Given the description of an element on the screen output the (x, y) to click on. 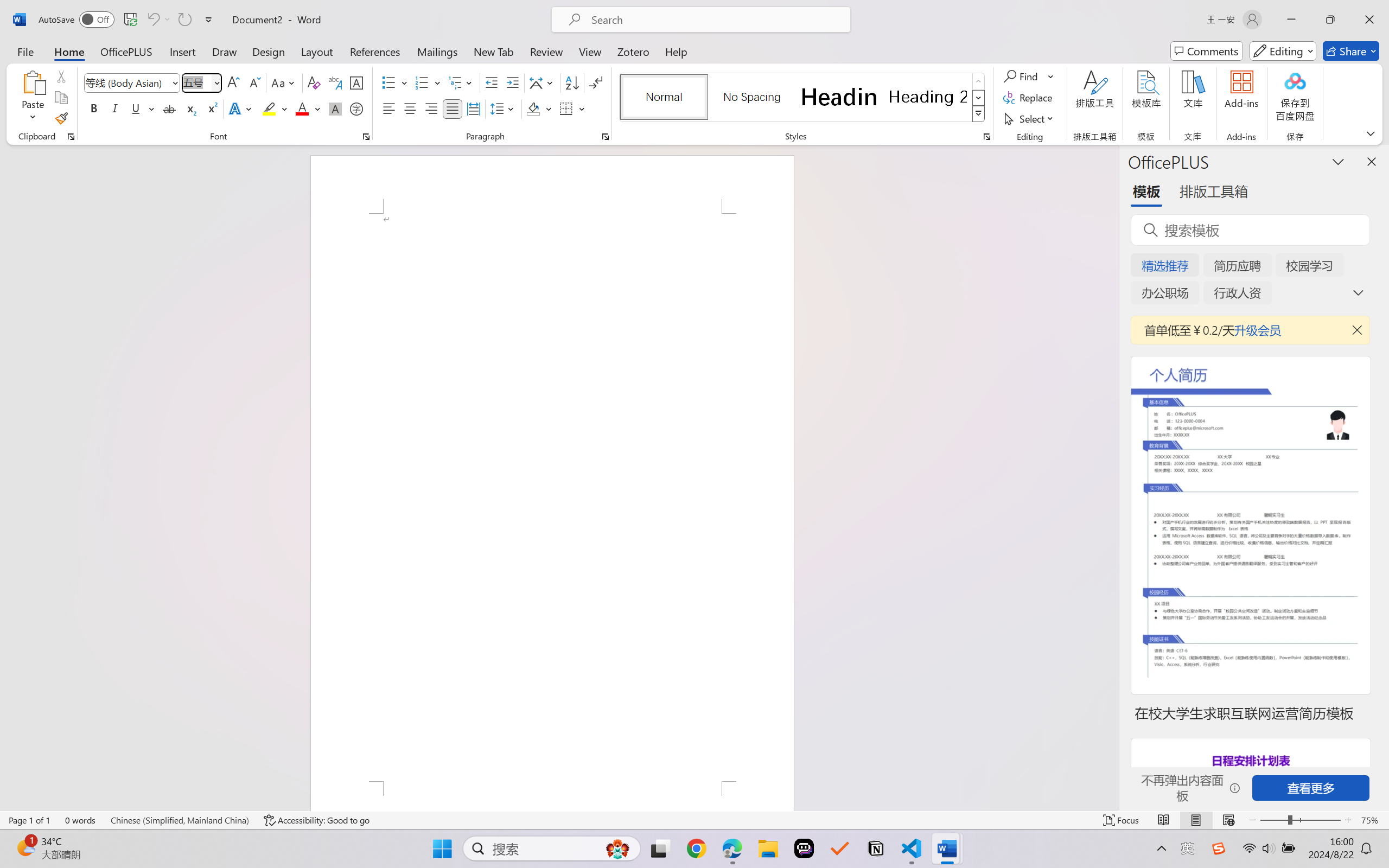
Heading 2 (927, 96)
Align Left (388, 108)
Web Layout (1228, 819)
Restore Down (1330, 19)
Align Right (431, 108)
Word Count 0 words (80, 819)
Font Color (308, 108)
OfficePLUS (126, 51)
Read Mode (1163, 819)
Shading (539, 108)
Class: NetUIScrollBar (1111, 477)
Copy (60, 97)
Zoom In (1348, 819)
Borders (566, 108)
